Given the description of an element on the screen output the (x, y) to click on. 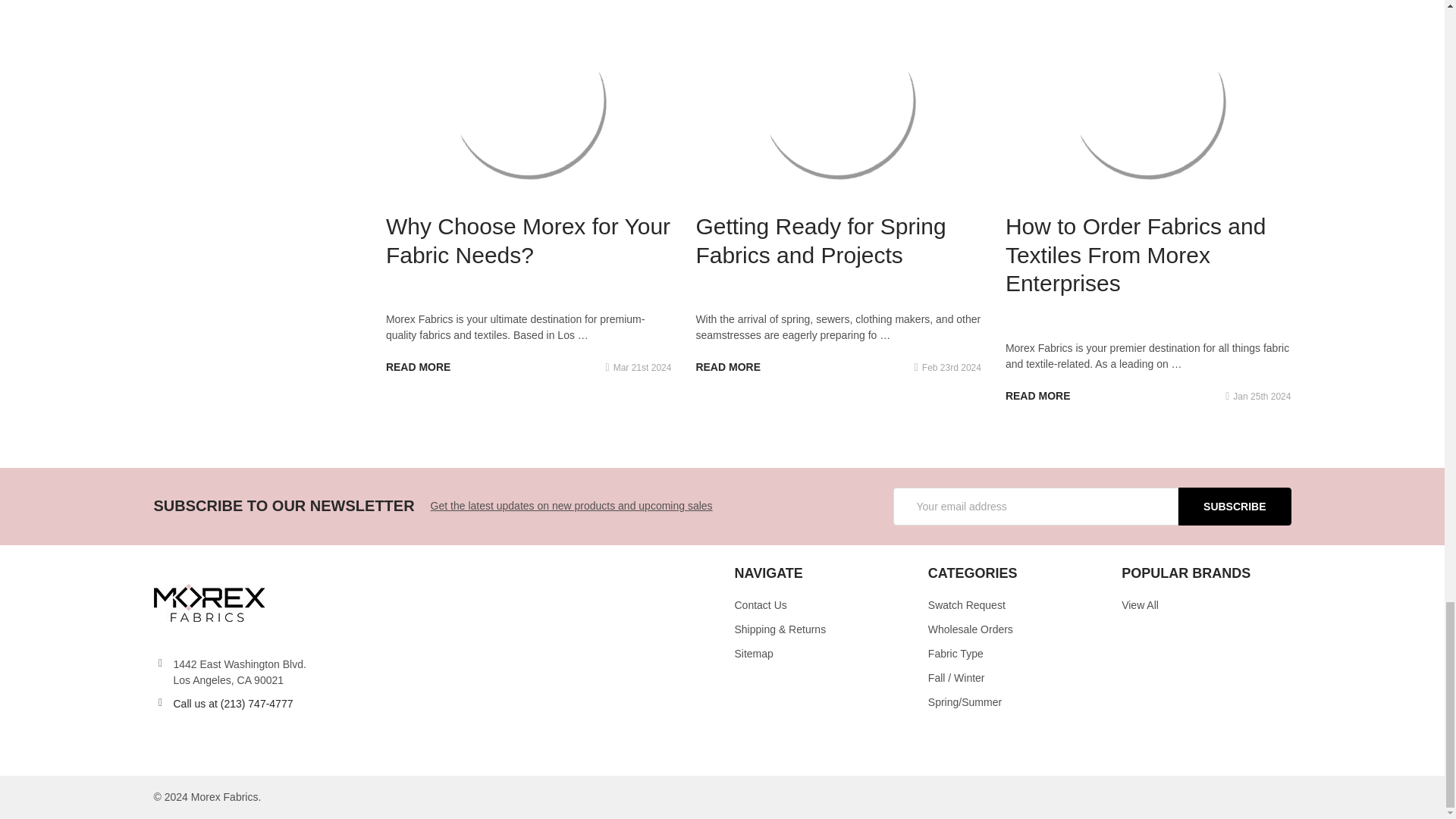
How to Order Fabrics and Textiles From Morex Enterprises (1147, 100)
Subscribe (1233, 506)
Why Choose Morex for Your Fabric Needs? (528, 100)
Morex Fabrics (207, 601)
Getting Ready for Spring Fabrics and Projects (837, 100)
